Given the description of an element on the screen output the (x, y) to click on. 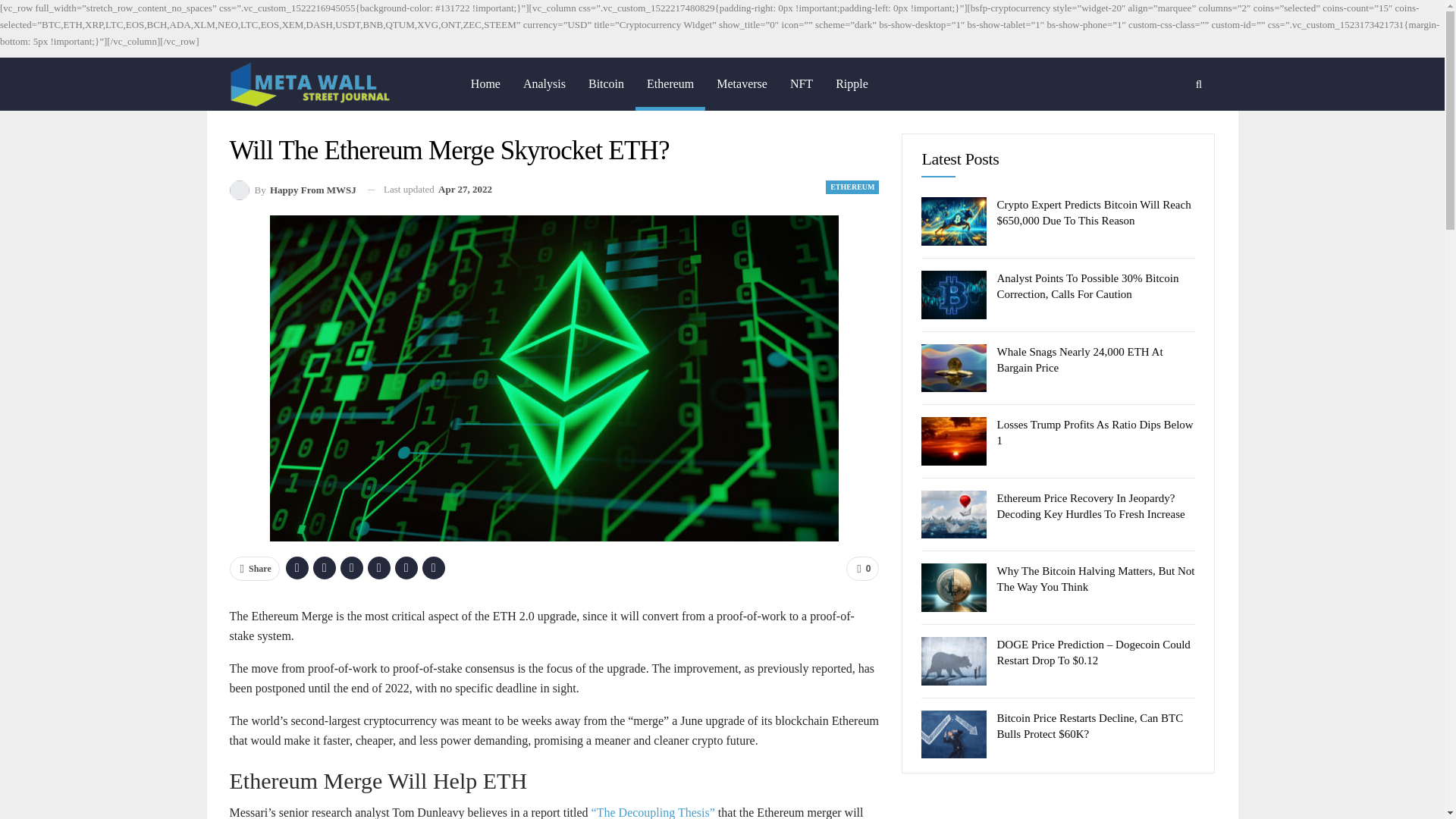
Browse Author Articles (291, 189)
Bitcoin (605, 83)
Metaverse (741, 83)
0 (862, 568)
ETHEREUM (852, 187)
Ethereum (669, 83)
Home (486, 83)
Analysis (544, 83)
Ripple (851, 83)
By Happy From MWSJ (291, 189)
